Given the description of an element on the screen output the (x, y) to click on. 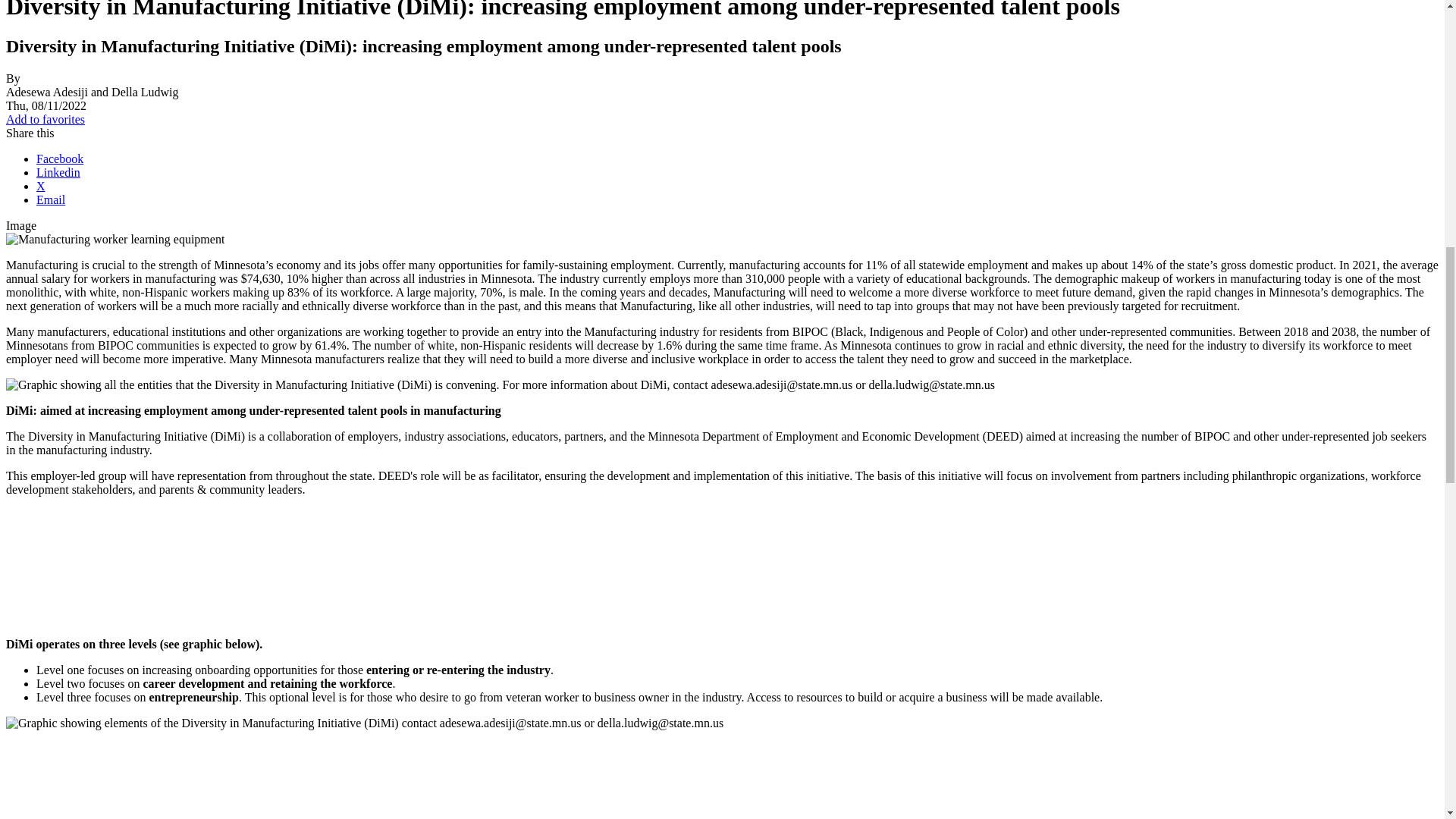
Facebook (59, 158)
Email (50, 199)
X (40, 185)
Add this to your favorites. (44, 119)
Linkedin (58, 172)
